Given the description of an element on the screen output the (x, y) to click on. 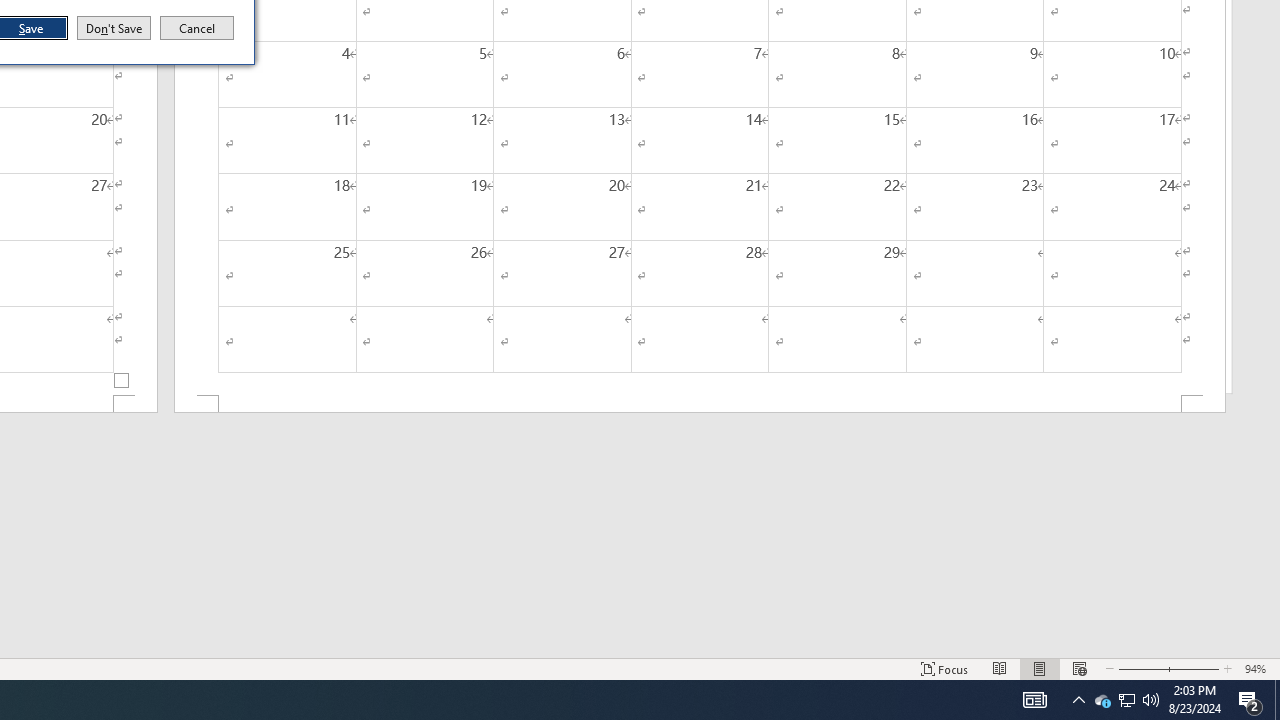
Action Center, 2 new notifications (1102, 699)
Footer -Section 2- (1250, 699)
AutomationID: 4105 (700, 404)
